Given the description of an element on the screen output the (x, y) to click on. 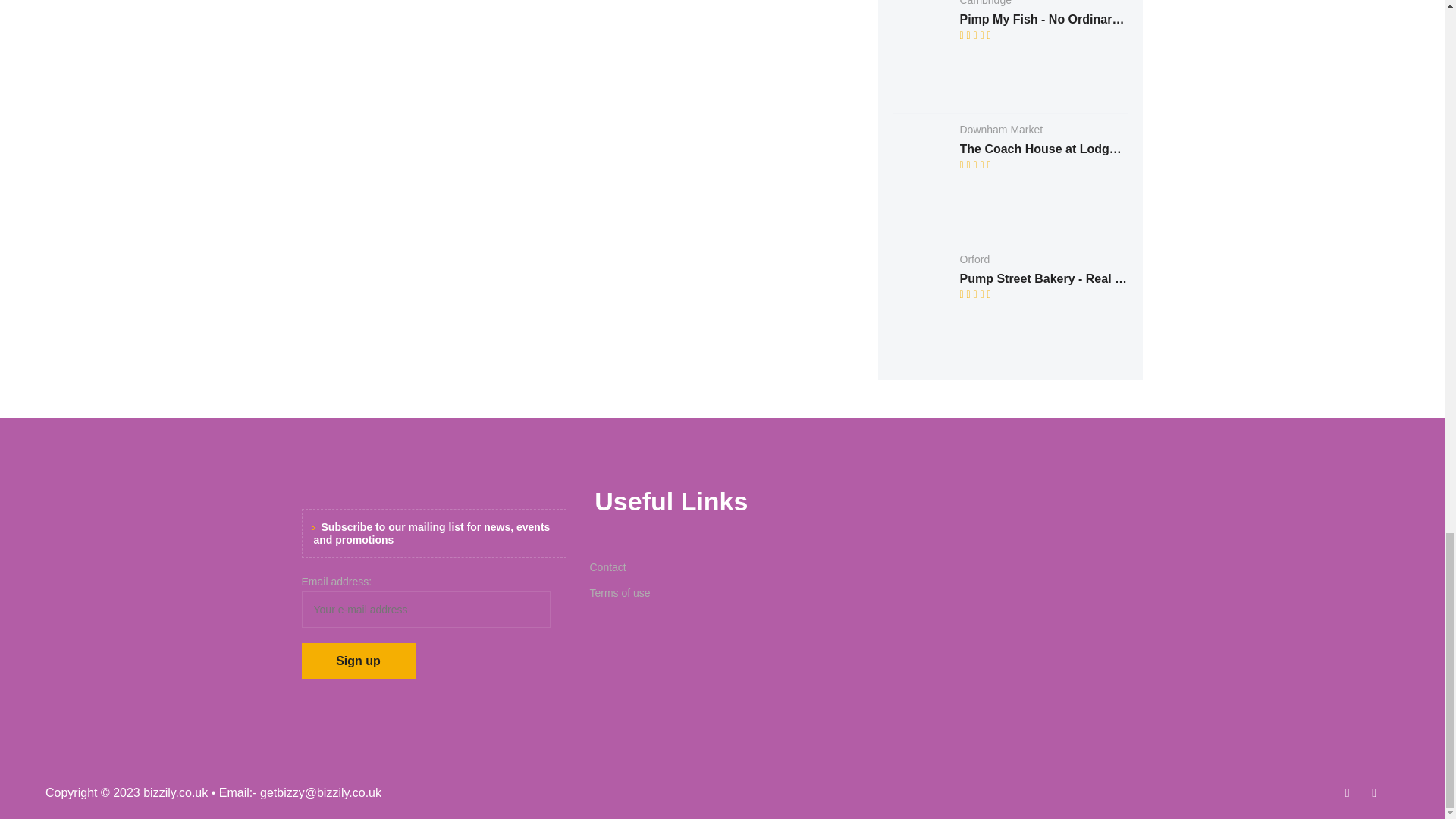
Sign up (357, 660)
